Given the description of an element on the screen output the (x, y) to click on. 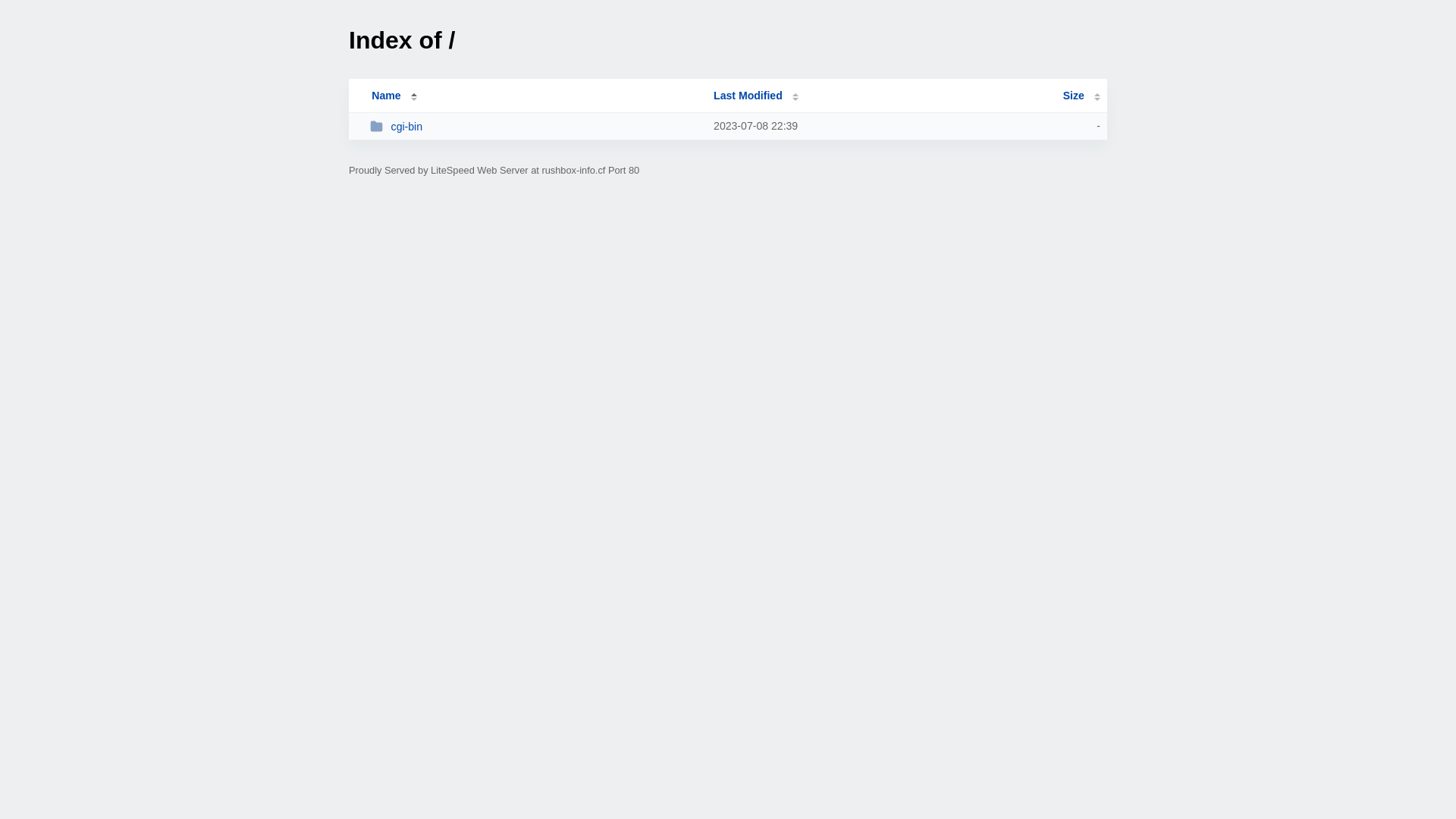
Name Element type: text (385, 95)
Size Element type: text (1081, 95)
cgi-bin Element type: text (534, 125)
Last Modified Element type: text (755, 95)
